Given the description of an element on the screen output the (x, y) to click on. 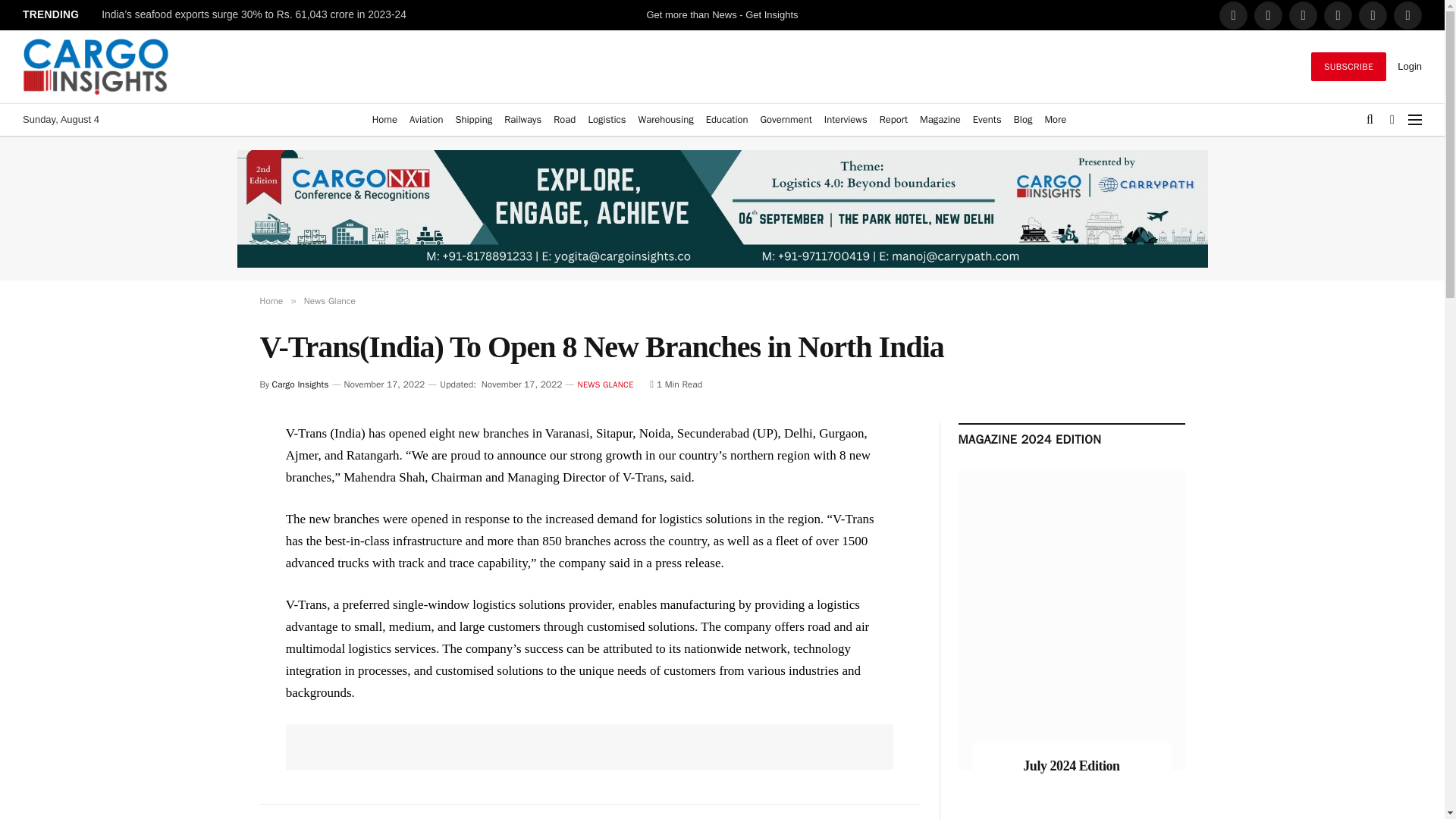
Login (1409, 66)
Instagram (1337, 15)
Home (384, 119)
Cargo Insights (95, 66)
LinkedIn (1302, 15)
Pinterest (1372, 15)
Aviation (425, 119)
SUBSCRIBE (1348, 66)
YouTube (1407, 15)
Facebook (1233, 15)
